Given the description of an element on the screen output the (x, y) to click on. 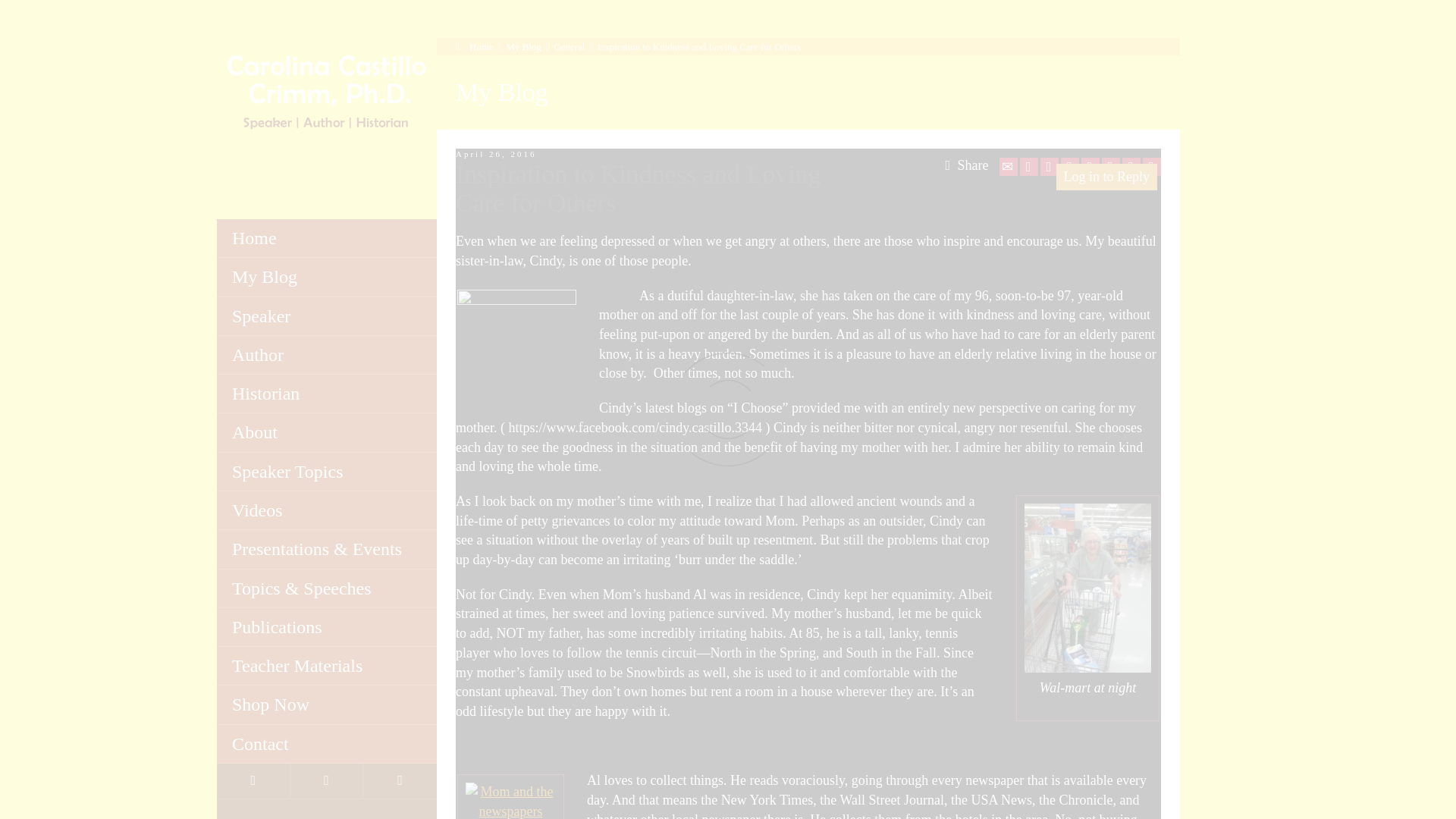
Carolina Castillo Crimm, Ph.D. (326, 90)
Cart (326, 780)
Login (252, 780)
Speaker (326, 316)
Email (1007, 167)
Teacher Materials (326, 666)
Contact (326, 743)
My Blog (326, 276)
Twitter (1029, 167)
Tumblr (1110, 167)
